Given the description of an element on the screen output the (x, y) to click on. 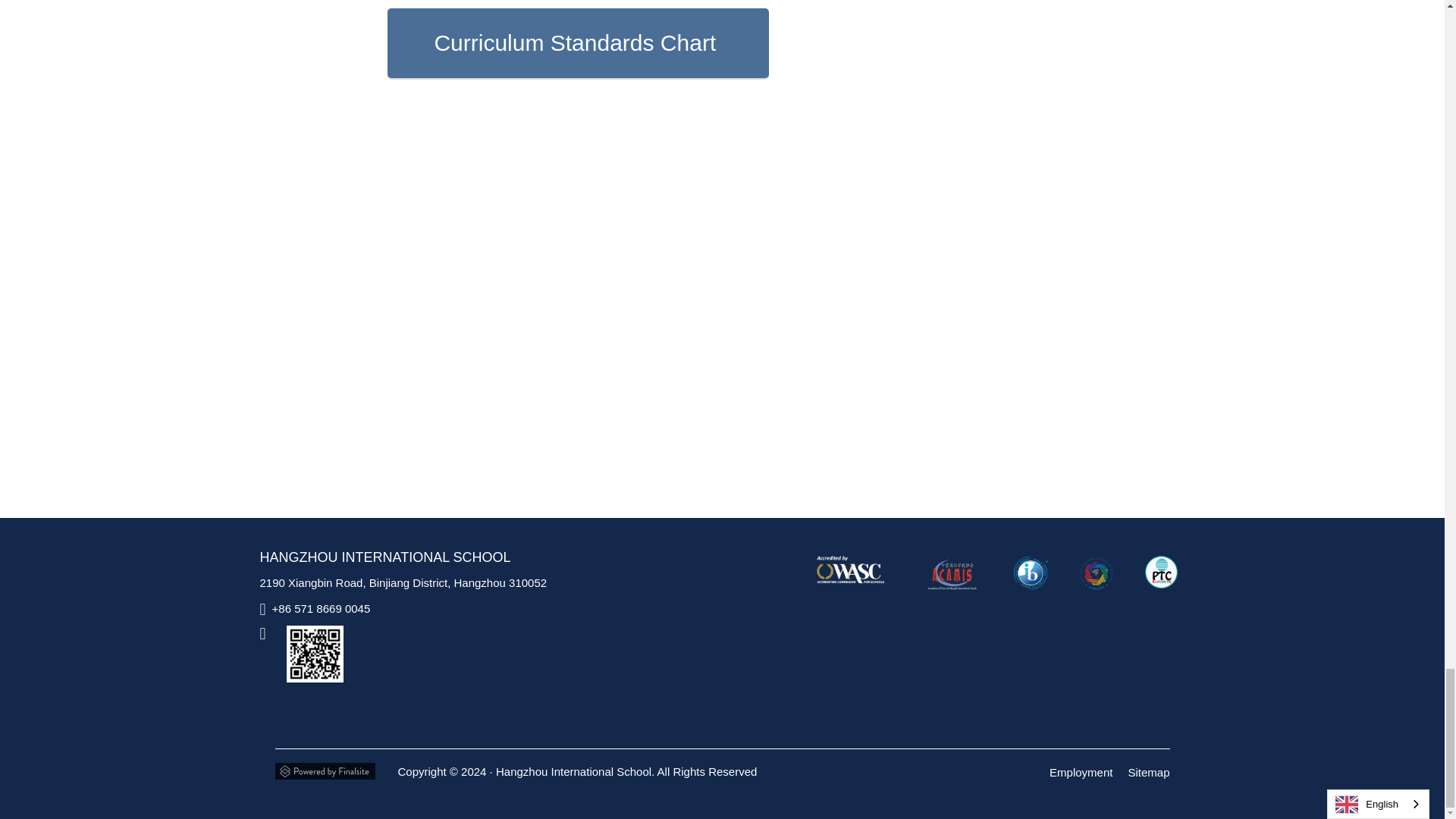
Powered by Finalsite opens in a new window (324, 767)
